Given the description of an element on the screen output the (x, y) to click on. 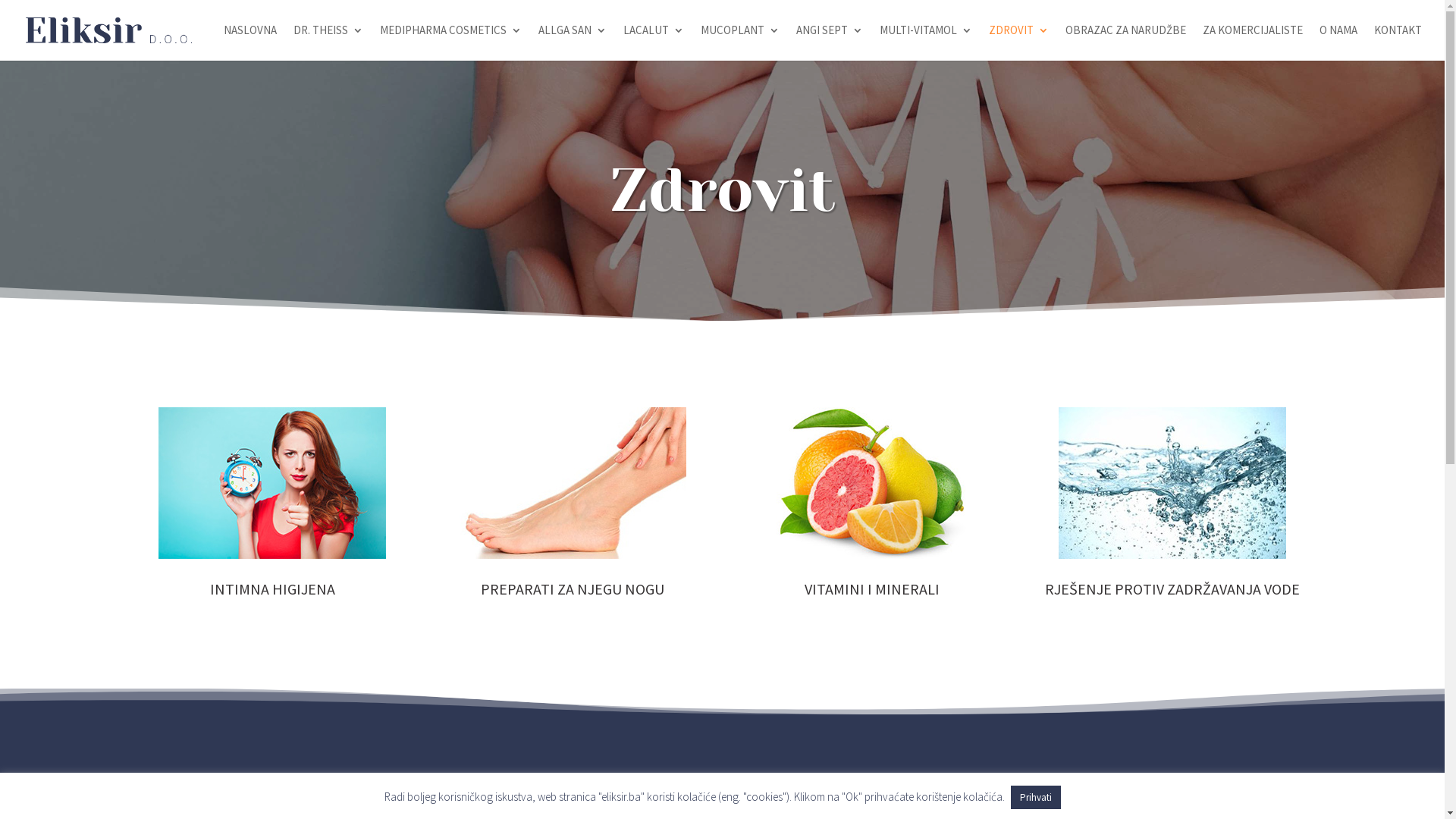
ALLGA SAN Element type: text (572, 42)
nega-nogu Element type: hover (572, 482)
MEDIPHARMA COSMETICS Element type: text (450, 42)
NASLOVNA Element type: text (249, 42)
ZA KOMERCIJALISTE Element type: text (1252, 42)
ZDROVIT Element type: text (1018, 42)
Prihvati Element type: text (1035, 797)
vitamini Element type: hover (871, 482)
voda Element type: hover (1172, 482)
MULTI-VITAMOL Element type: text (925, 42)
KONTAKT Element type: text (1397, 42)
ANGI SEPT Element type: text (829, 42)
LACALUT Element type: text (653, 42)
intimna-higijena1 Element type: hover (271, 482)
MUCOPLANT Element type: text (739, 42)
DR. THEISS Element type: text (328, 42)
O NAMA Element type: text (1338, 42)
